Given the description of an element on the screen output the (x, y) to click on. 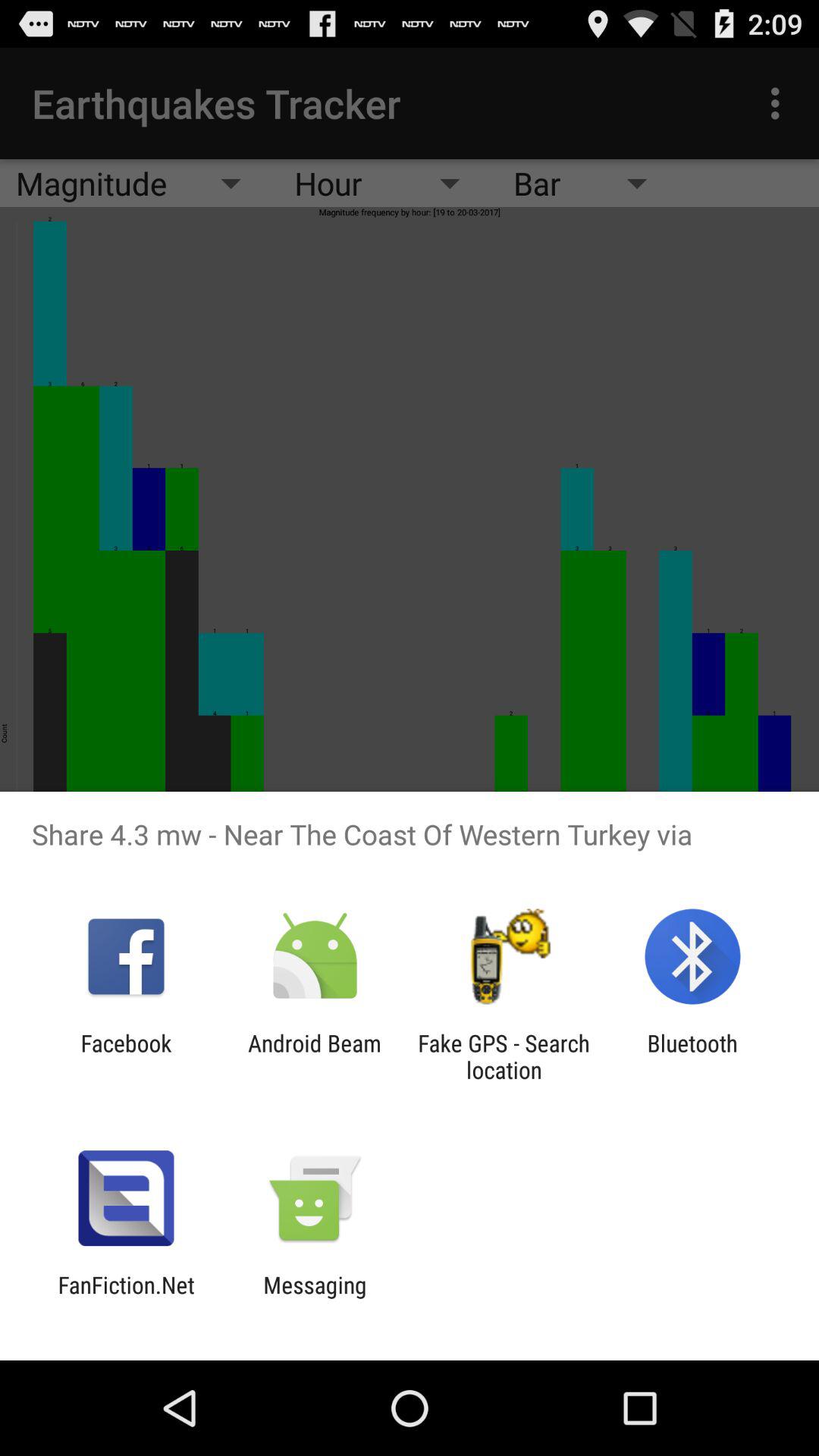
select icon next to facebook icon (314, 1056)
